Given the description of an element on the screen output the (x, y) to click on. 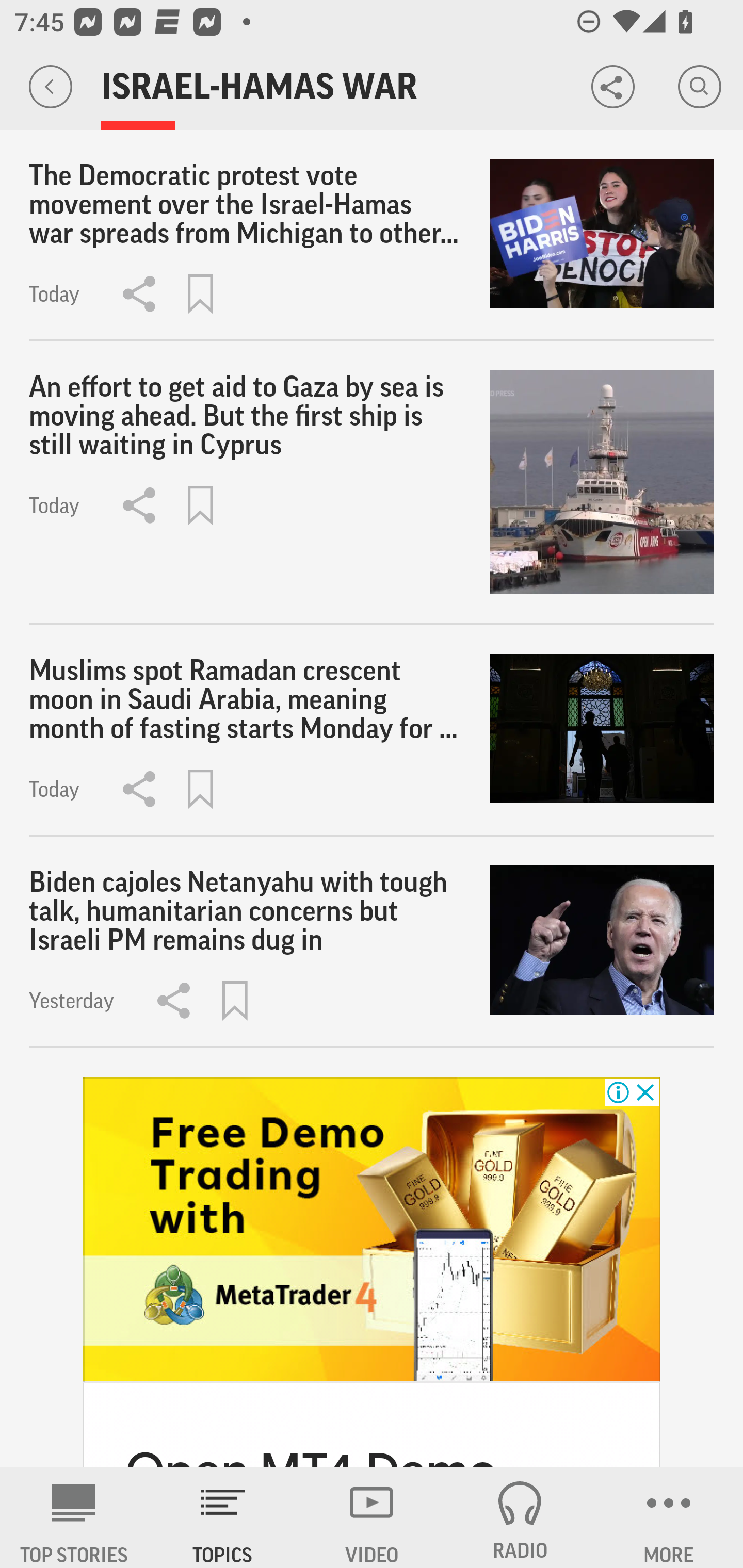
AP News TOP STORIES (74, 1517)
TOPICS (222, 1517)
VIDEO (371, 1517)
RADIO (519, 1517)
MORE (668, 1517)
